Given the description of an element on the screen output the (x, y) to click on. 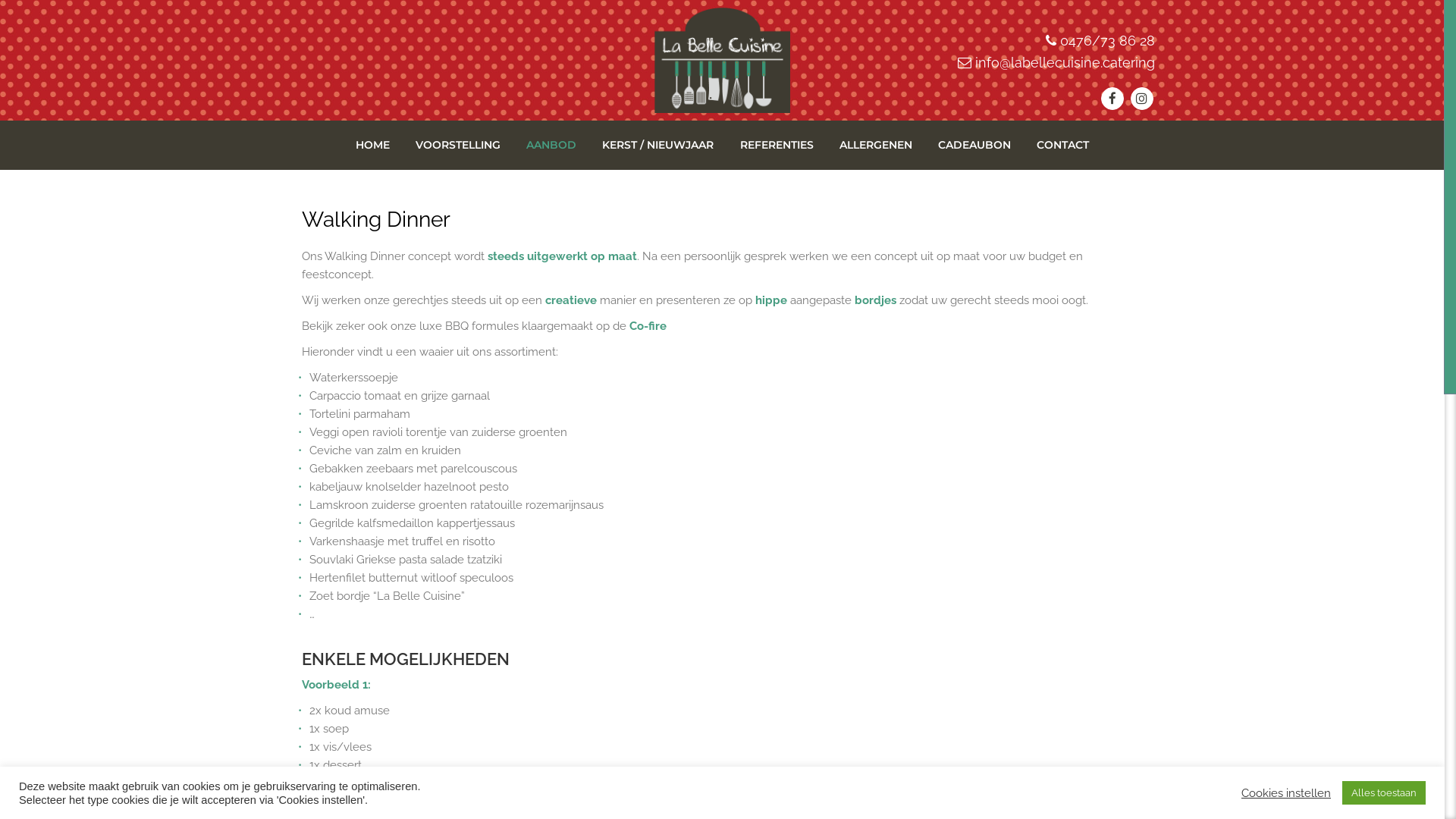
Cookies instellen Element type: text (1285, 792)
KERST / NIEUWJAAR Element type: text (657, 144)
info@labellecuisine.catering Element type: text (1064, 62)
AANBOD Element type: text (550, 144)
ALLERGENEN Element type: text (875, 144)
HOME Element type: text (372, 144)
Alles toestaan Element type: text (1383, 792)
VOORSTELLING Element type: text (457, 144)
CONTACT Element type: text (1062, 144)
CADEAUBON Element type: text (974, 144)
REFERENTIES Element type: text (776, 144)
0476/73 86 28 Element type: text (1107, 40)
